Given the description of an element on the screen output the (x, y) to click on. 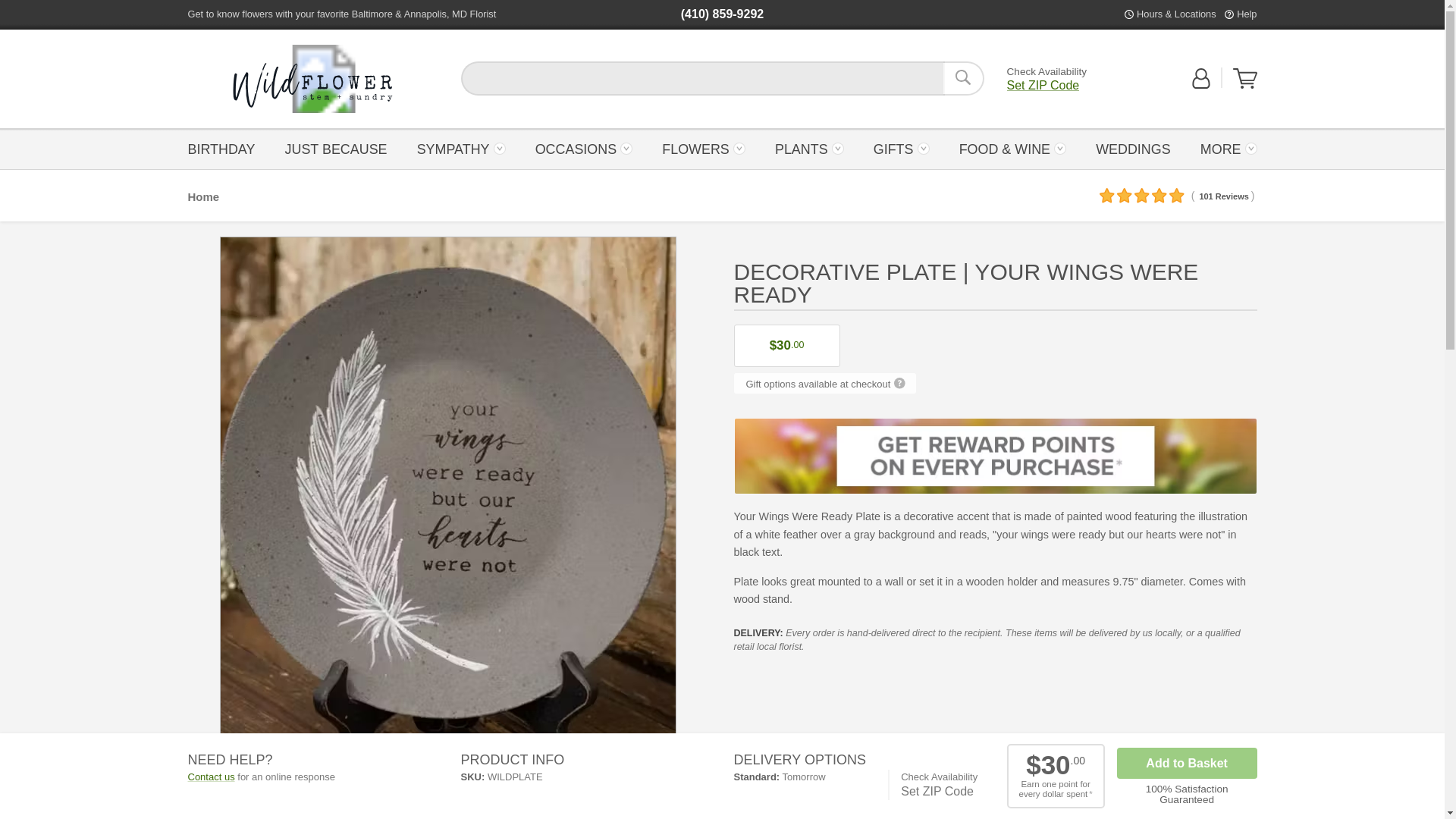
View Your Shopping Cart (1245, 78)
View Your Shopping Cart (1245, 85)
OCCASIONS (582, 147)
SYMPATHY (460, 147)
JUST BECAUSE (335, 147)
Back to the Home Page (312, 79)
Set ZIP Code (1043, 85)
Help (1246, 13)
Search (963, 78)
BIRTHDAY (225, 147)
